Given the description of an element on the screen output the (x, y) to click on. 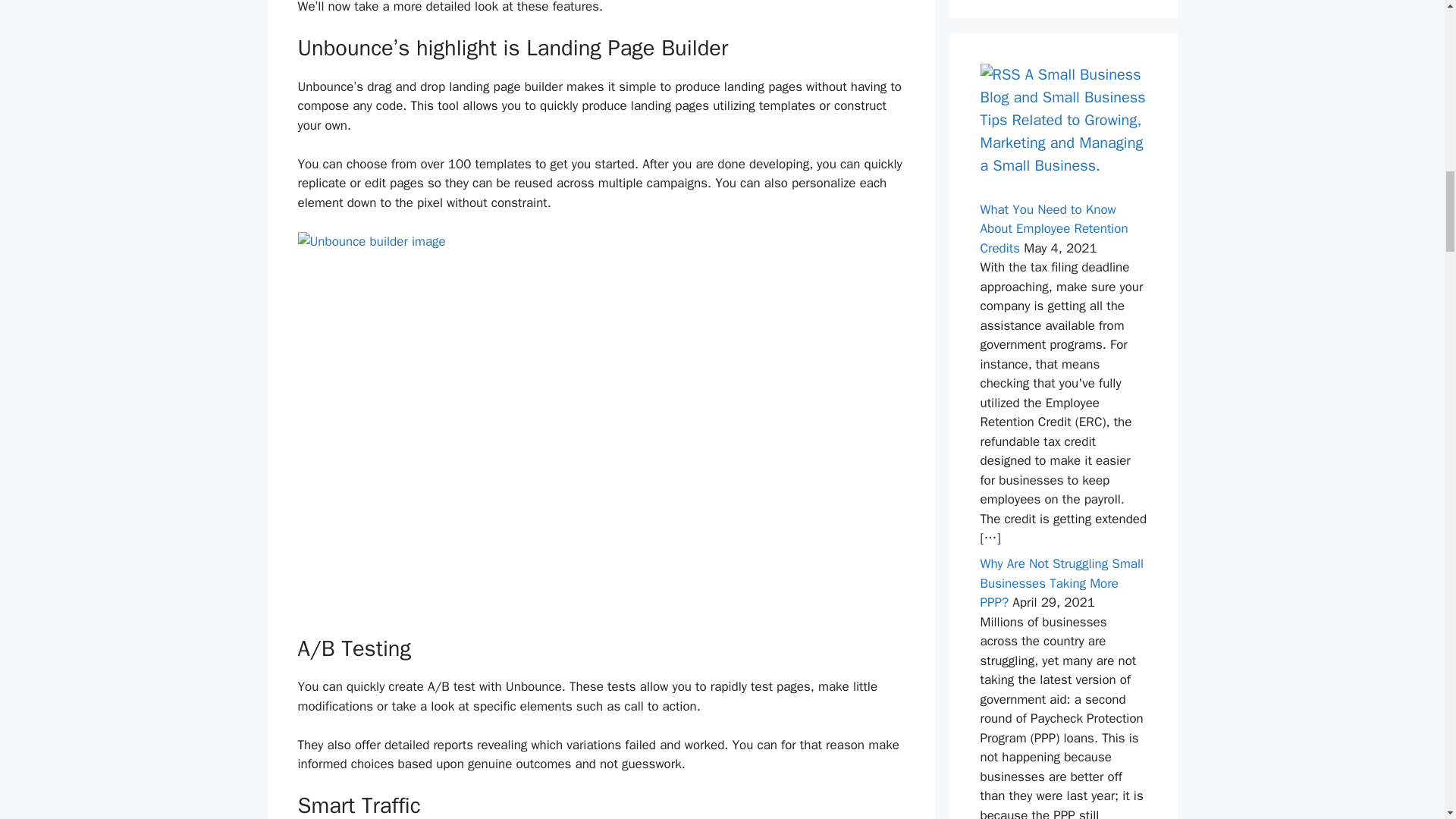
Why Are Not Struggling Small Businesses Taking More PPP? (1060, 583)
What You Need to Know About Employee Retention Credits (1052, 228)
